Given the description of an element on the screen output the (x, y) to click on. 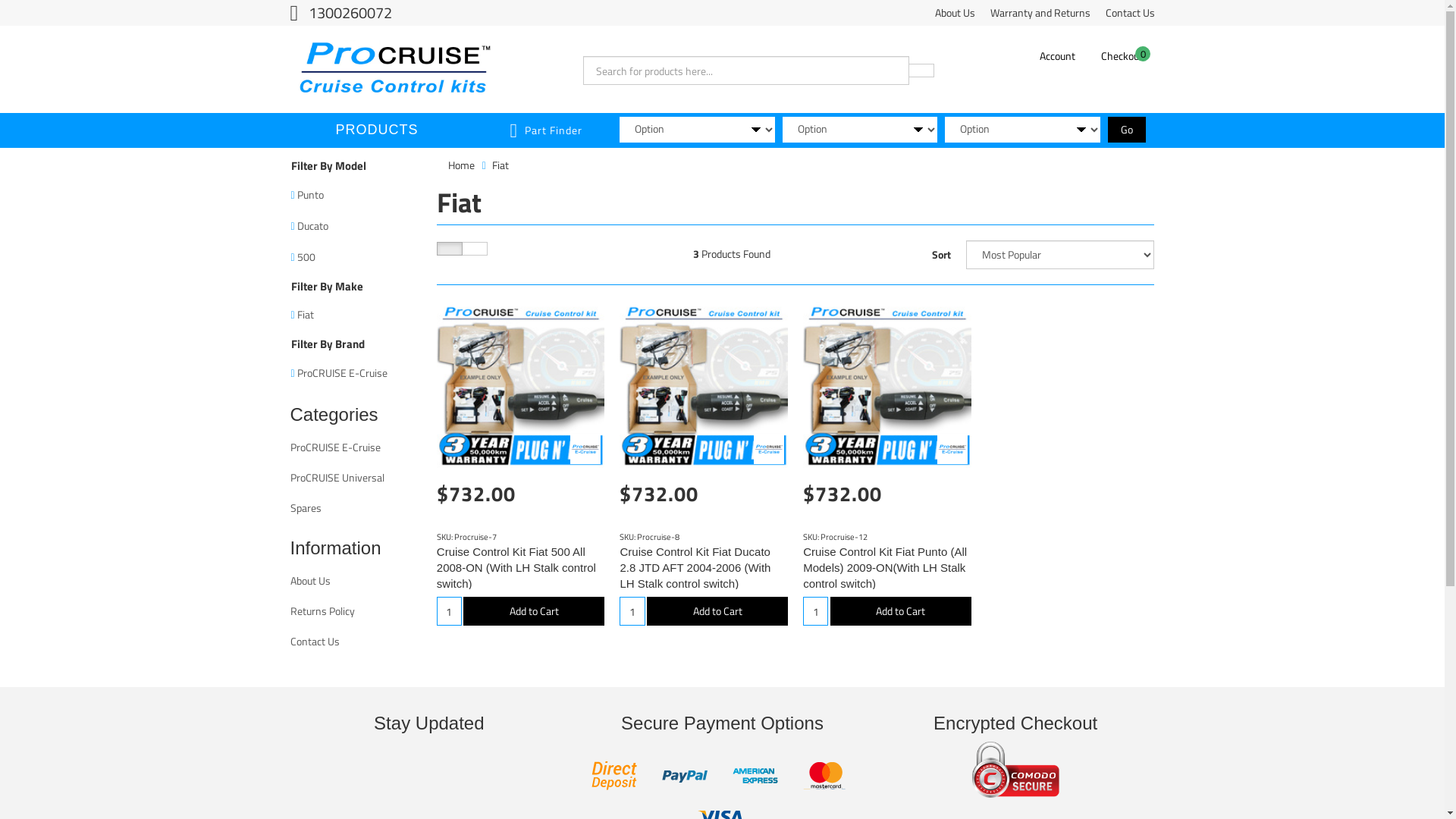
Fiat Element type: text (500, 164)
Contact Us Element type: text (354, 641)
Add to Cart Element type: text (900, 610)
Add to Cart Element type: text (533, 610)
ProCRUISE E-Cruise Element type: text (354, 447)
PRODUCTS Element type: text (376, 129)
Account Element type: text (1057, 55)
Search Element type: text (921, 70)
Home Element type: text (461, 164)
About Us Element type: text (954, 12)
Add to Cart Element type: text (716, 610)
0
Checkout Element type: text (1121, 55)
Punto Element type: text (355, 194)
Spares Element type: text (354, 507)
ProCRUISE E-Cruise Element type: hover (585, 448)
ProCRUISE E-Cruise Element type: hover (952, 448)
Returns Policy Element type: text (354, 611)
ProCRUISE E-Cruise Element type: text (355, 373)
ProCRUISE E-Cruise Element type: hover (768, 448)
ProCRUISE Universal Element type: text (354, 477)
Ducato Element type: text (355, 225)
Go Element type: text (1126, 129)
1300260072 Element type: text (340, 12)
Contact Us Element type: text (1129, 12)
500 Element type: text (355, 256)
About Us Element type: text (354, 580)
Warranty and Returns Element type: text (1040, 12)
Fiat Element type: text (355, 314)
